Given the description of an element on the screen output the (x, y) to click on. 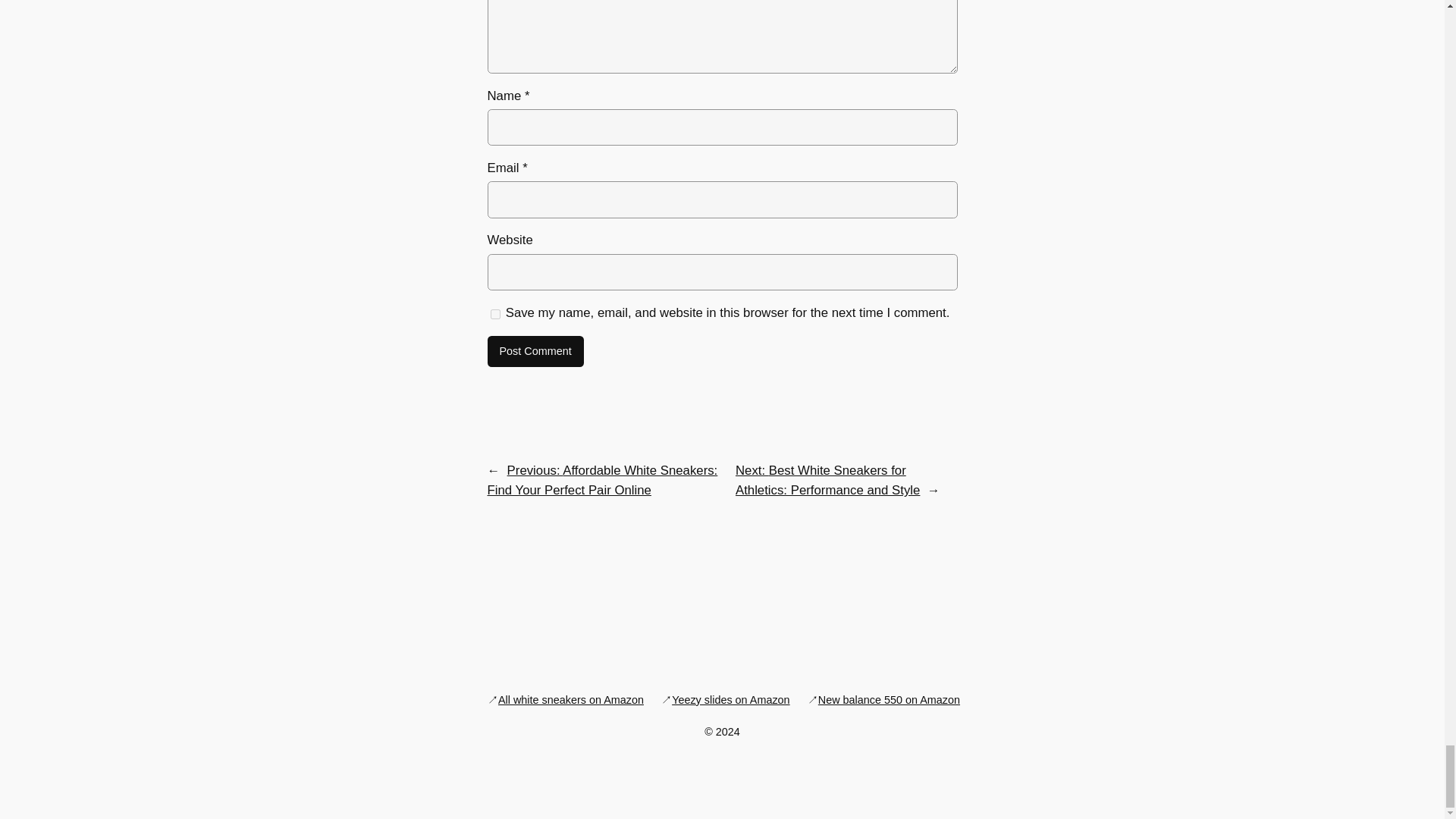
Yeezy slides on Amazon (730, 699)
New balance 550 on Amazon (888, 699)
Post Comment (534, 351)
Post Comment (534, 351)
All white sneakers on Amazon (570, 699)
